Given the description of an element on the screen output the (x, y) to click on. 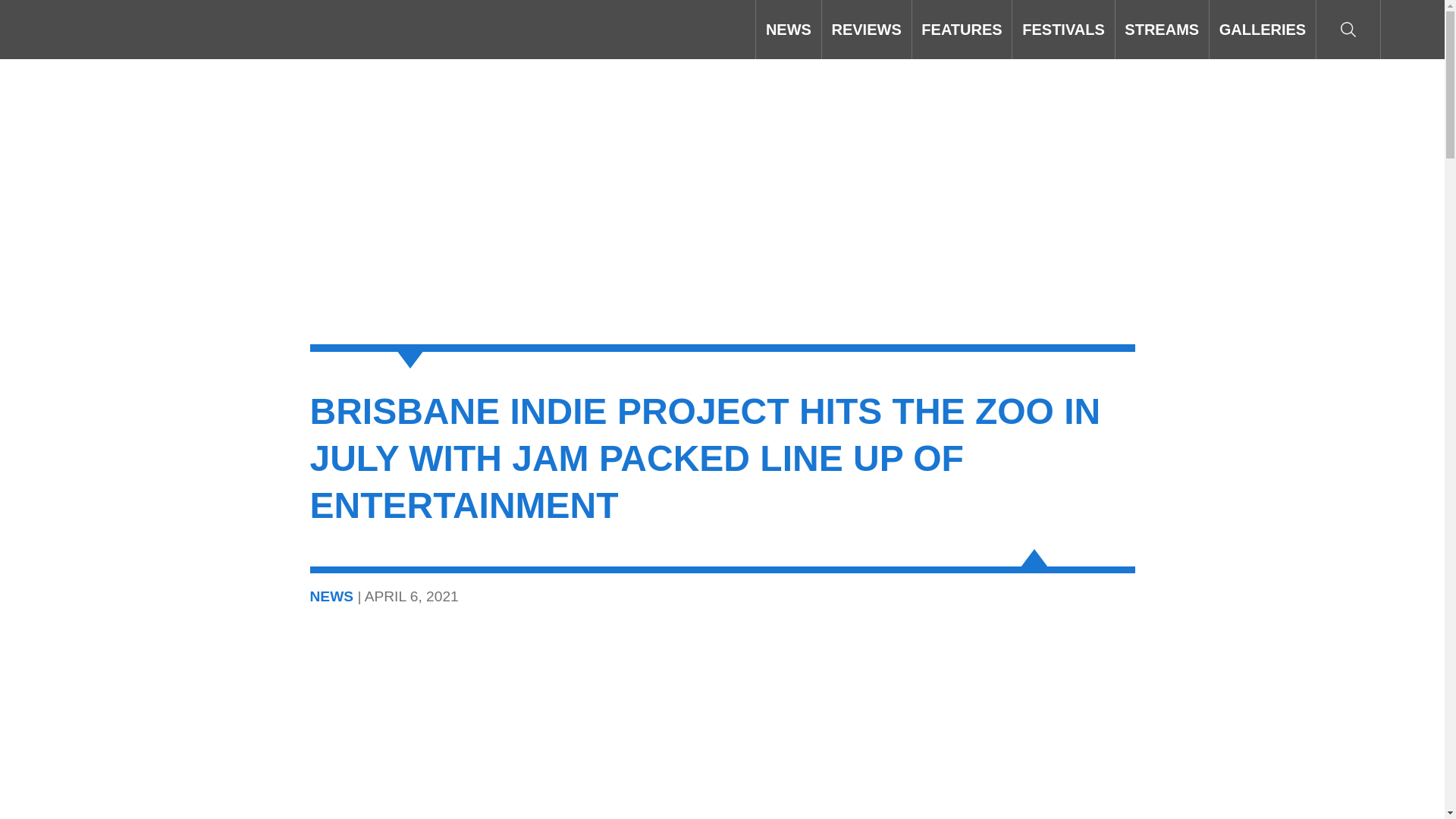
STREAMS (1161, 29)
FEATURES (961, 29)
Search (1348, 29)
FESTIVALS (1062, 29)
REVIEWS (866, 29)
NEWS (788, 29)
GALLERIES (1262, 29)
